Given the description of an element on the screen output the (x, y) to click on. 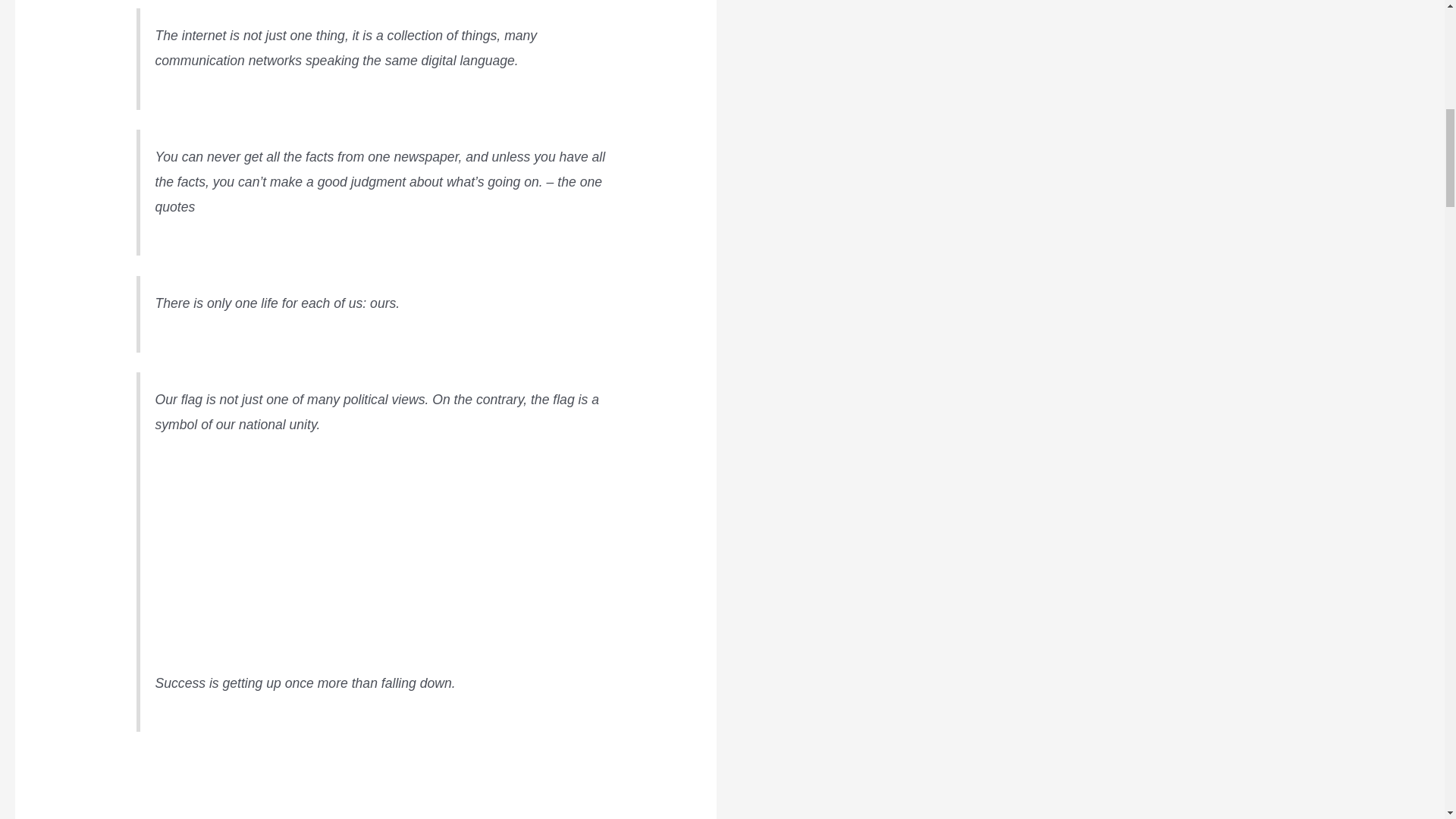
Advertisement (381, 564)
